Given the description of an element on the screen output the (x, y) to click on. 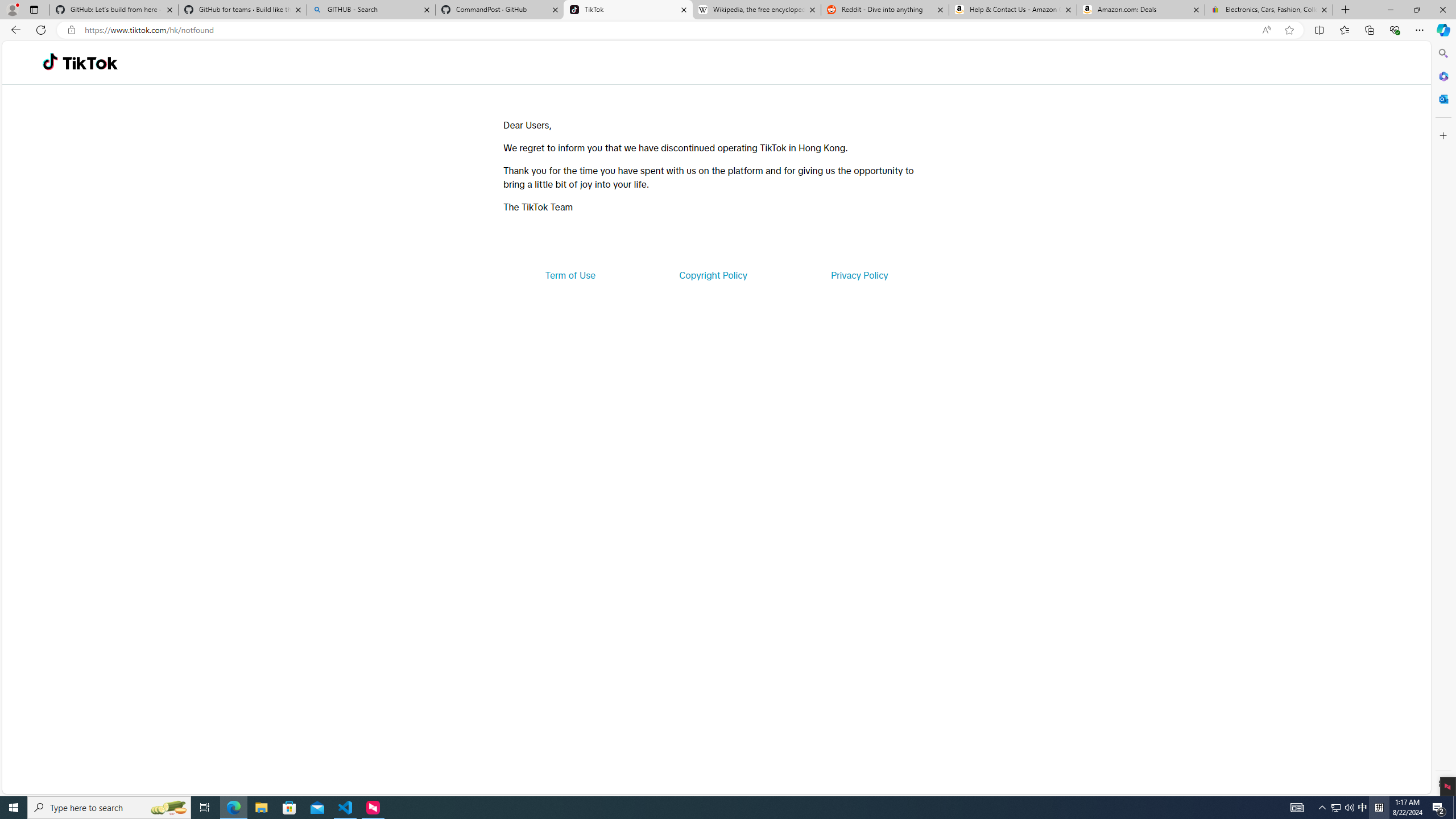
Privacy Policy (858, 274)
